Given the description of an element on the screen output the (x, y) to click on. 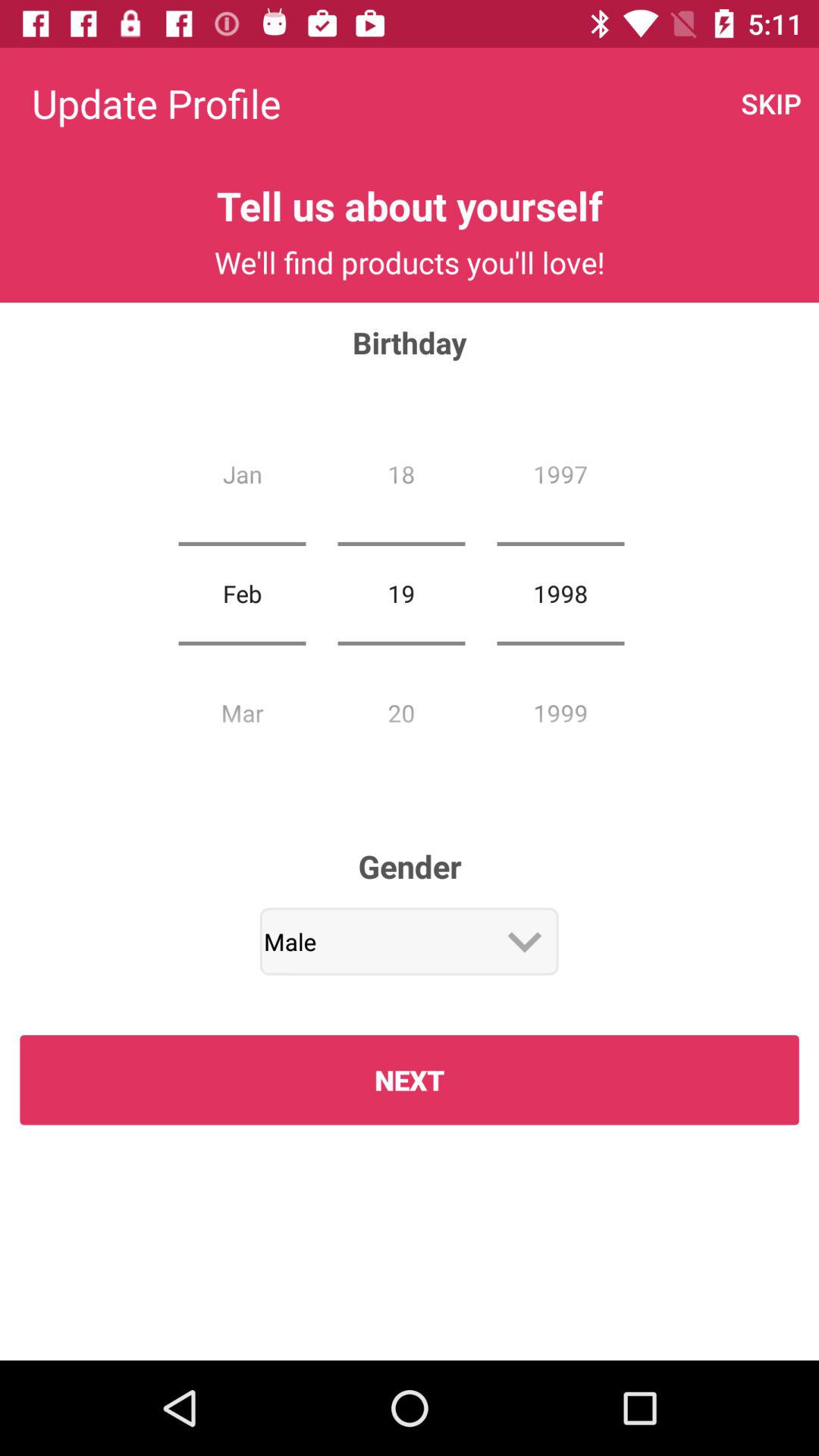
turn on next (409, 1079)
